Given the description of an element on the screen output the (x, y) to click on. 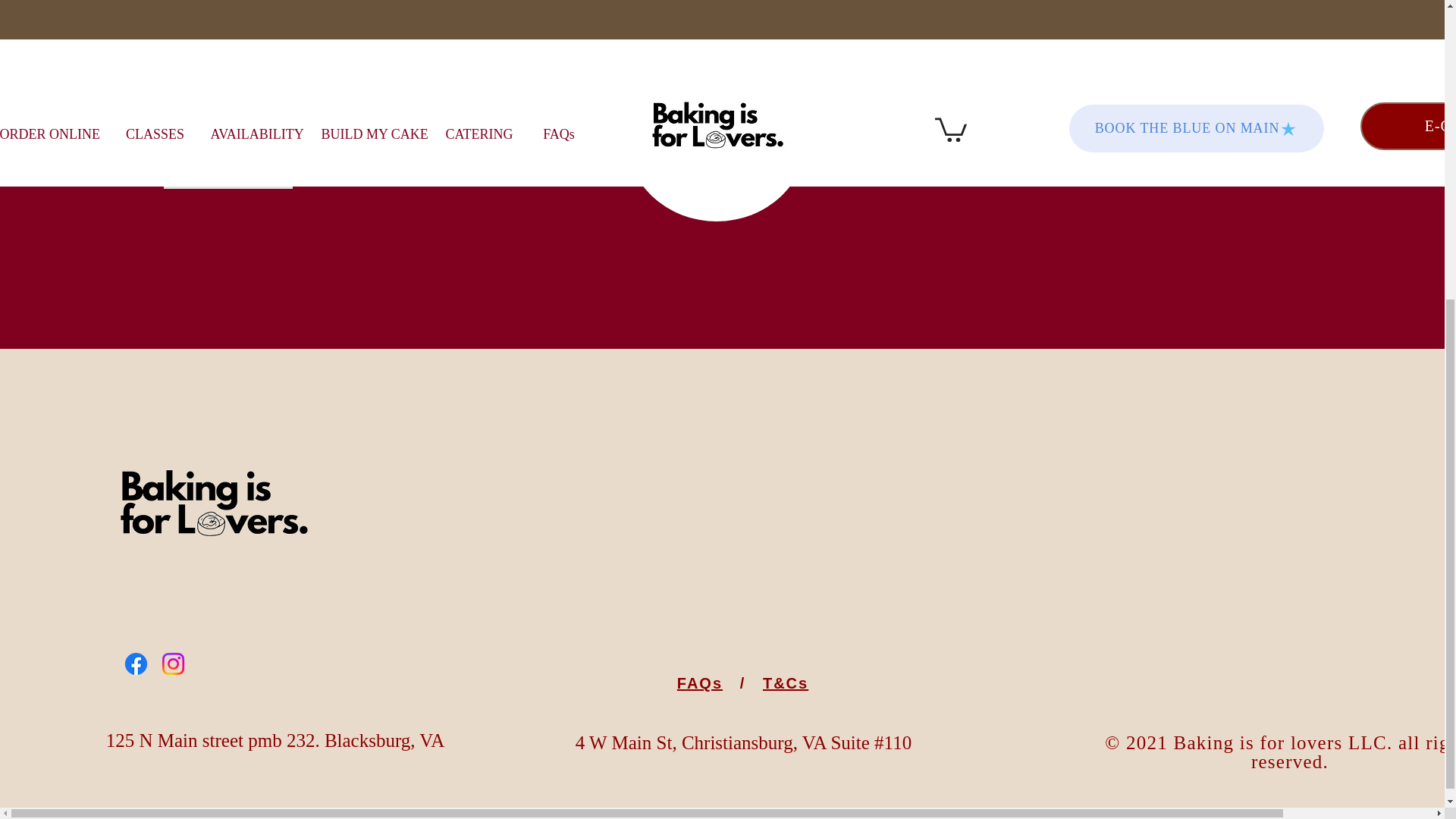
Back to Homepage (227, 173)
FAQs (699, 682)
